Given the description of an element on the screen output the (x, y) to click on. 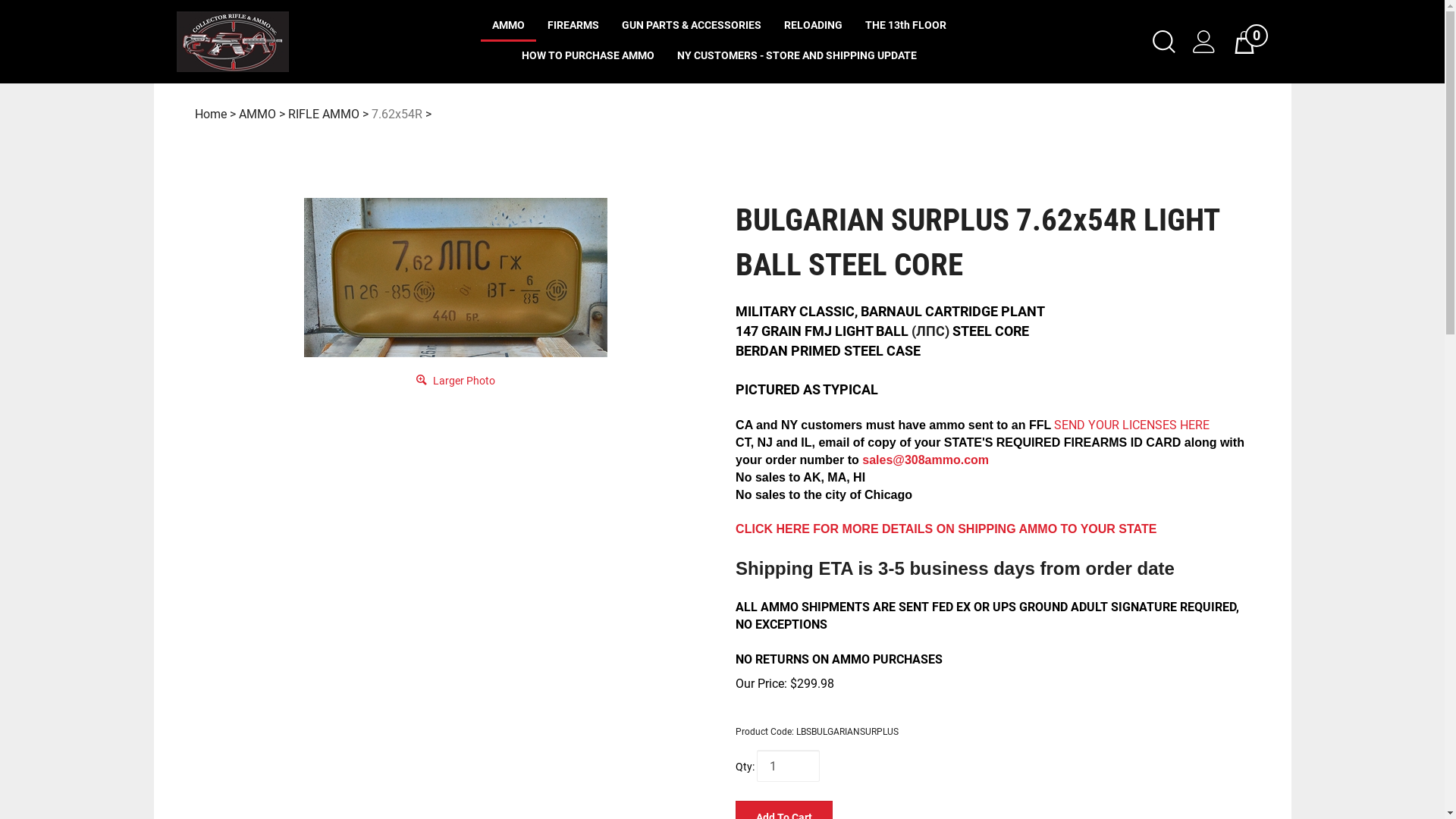
0 Element type: text (1255, 41)
Home Element type: text (209, 113)
AMMO Element type: text (508, 26)
Quantity Element type: hover (787, 765)
RIFLE AMMO Element type: text (323, 113)
RELOADING Element type: text (812, 26)
7.62x54R Element type: text (396, 113)
CLICK HERE FOR MORE DETAILS ON SHIPPING AMMO TO YOUR STATE Element type: text (945, 528)
Larger Photo Element type: text (455, 379)
SEND YOUR LICENSES HERE Element type: text (1131, 424)
FIREARMS Element type: text (573, 26)
GUN PARTS & ACCESSORIES Element type: text (691, 26)
AMMO Element type: text (256, 113)
sales@308ammo.com Element type: text (925, 459)
COLLECTOR RIFLE & AMMO, Inc. Element type: hover (300, 41)
BULGARIAN SURPLUS 7.62x54R LIGHT BALL STEEL CORE Element type: hover (455, 277)
THE 13th FLOOR Element type: text (905, 26)
HOW TO PURCHASE AMMO Element type: text (587, 56)
NY CUSTOMERS - STORE AND SHIPPING UPDATE Element type: text (796, 56)
